Given the description of an element on the screen output the (x, y) to click on. 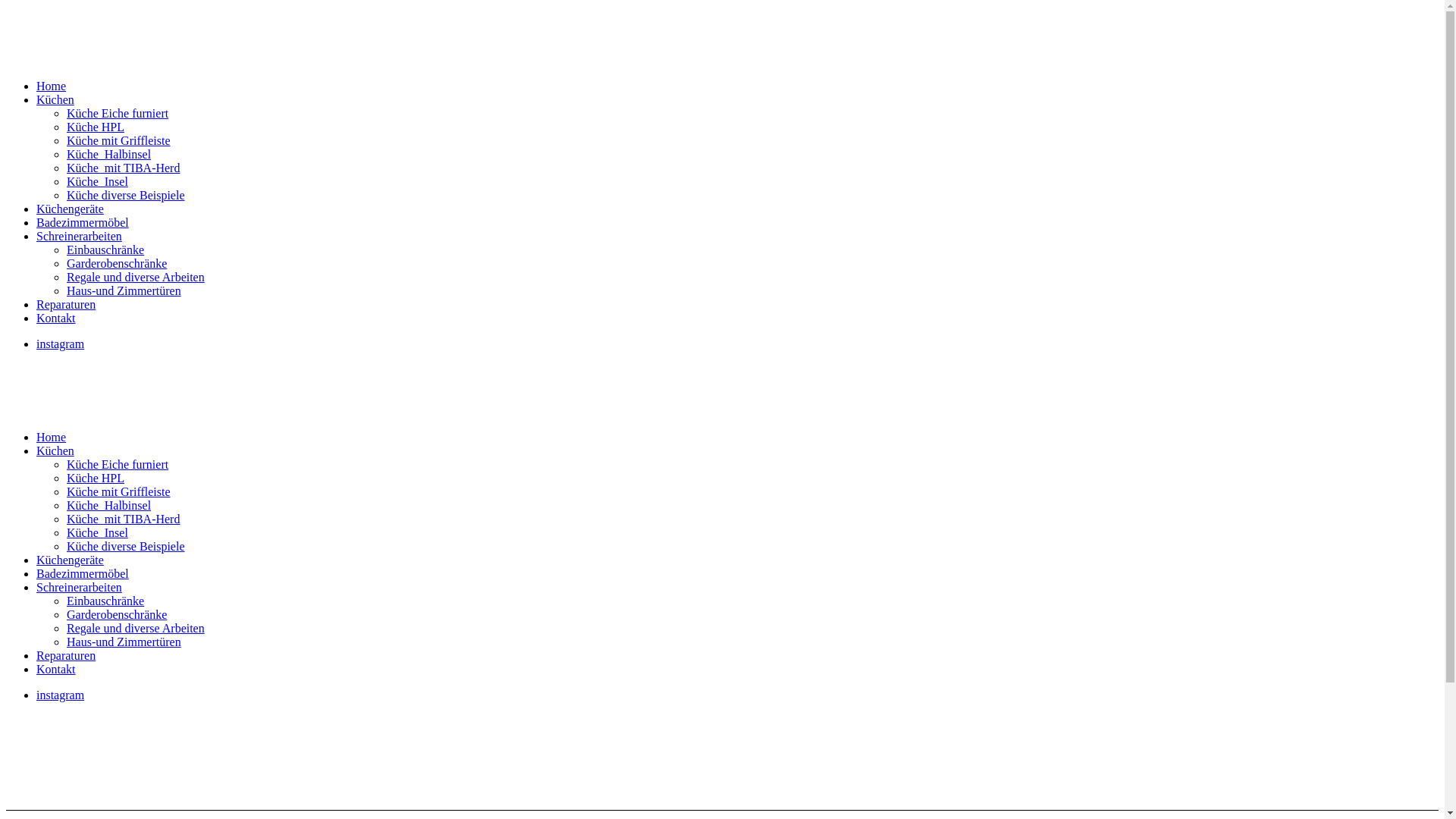
Regale und diverse Arbeiten Element type: text (135, 276)
instagram Element type: text (60, 343)
Kontakt Element type: text (55, 668)
Home Element type: text (50, 436)
Home Element type: text (50, 85)
Regale und diverse Arbeiten Element type: text (135, 627)
Schreinerarbeiten Element type: text (79, 586)
Kontakt Element type: text (55, 317)
Reparaturen Element type: text (65, 655)
Reparaturen Element type: text (65, 304)
instagram Element type: text (60, 694)
Schreinerarbeiten Element type: text (79, 235)
